Given the description of an element on the screen output the (x, y) to click on. 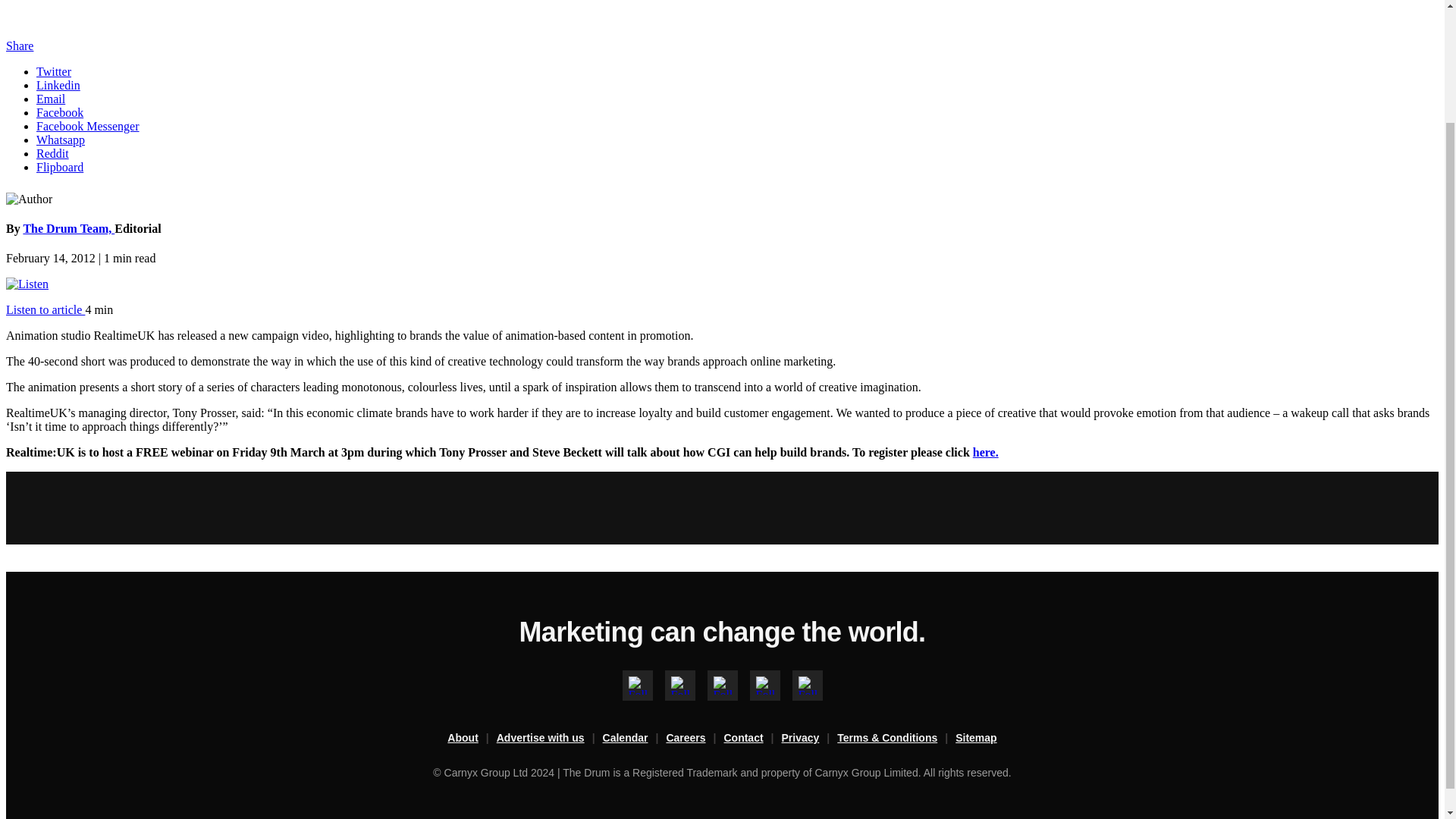
Flipboard (59, 166)
Email (50, 98)
Whatsapp (60, 139)
Listen to article (44, 309)
Privacy (809, 738)
Careers (694, 738)
Linkedin (58, 84)
Contact (751, 738)
The Drum Team, (69, 228)
Share (19, 45)
